Given the description of an element on the screen output the (x, y) to click on. 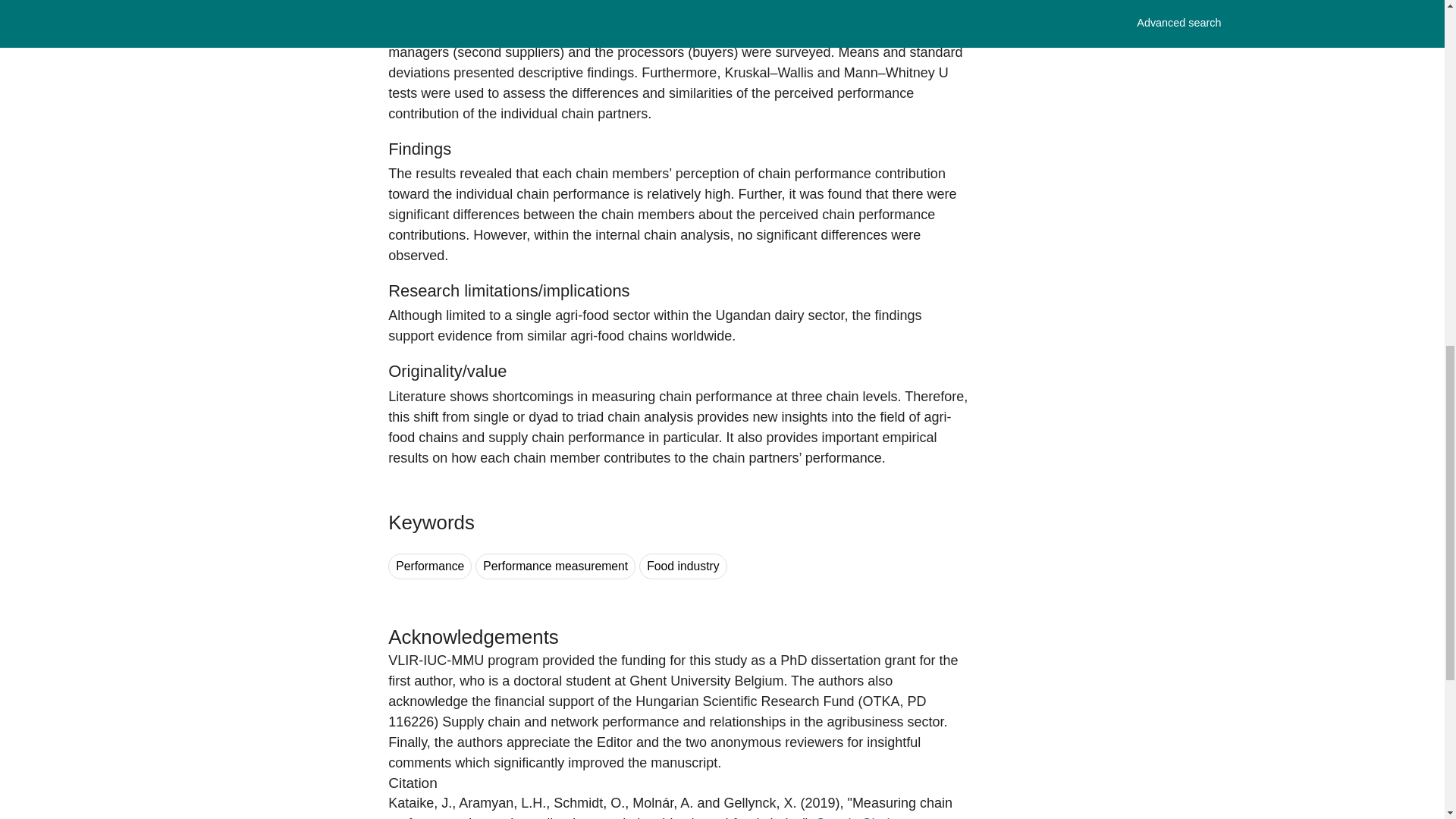
Lusine H. Aramyan (502, 802)
Search for keyword Food industry (682, 566)
Gellynck, X. (759, 802)
Performance measurement (555, 566)
Oliver Schmidt (588, 802)
Schmidt, O. (588, 802)
Performance (429, 566)
Food industry (682, 566)
Kataike, J. (419, 802)
Aramyan, L.H. (502, 802)
Joanita Kataike (419, 802)
Xavier Gellynck (759, 802)
Search for keyword Performance (429, 566)
Search for keyword Performance measurement (555, 566)
